Given the description of an element on the screen output the (x, y) to click on. 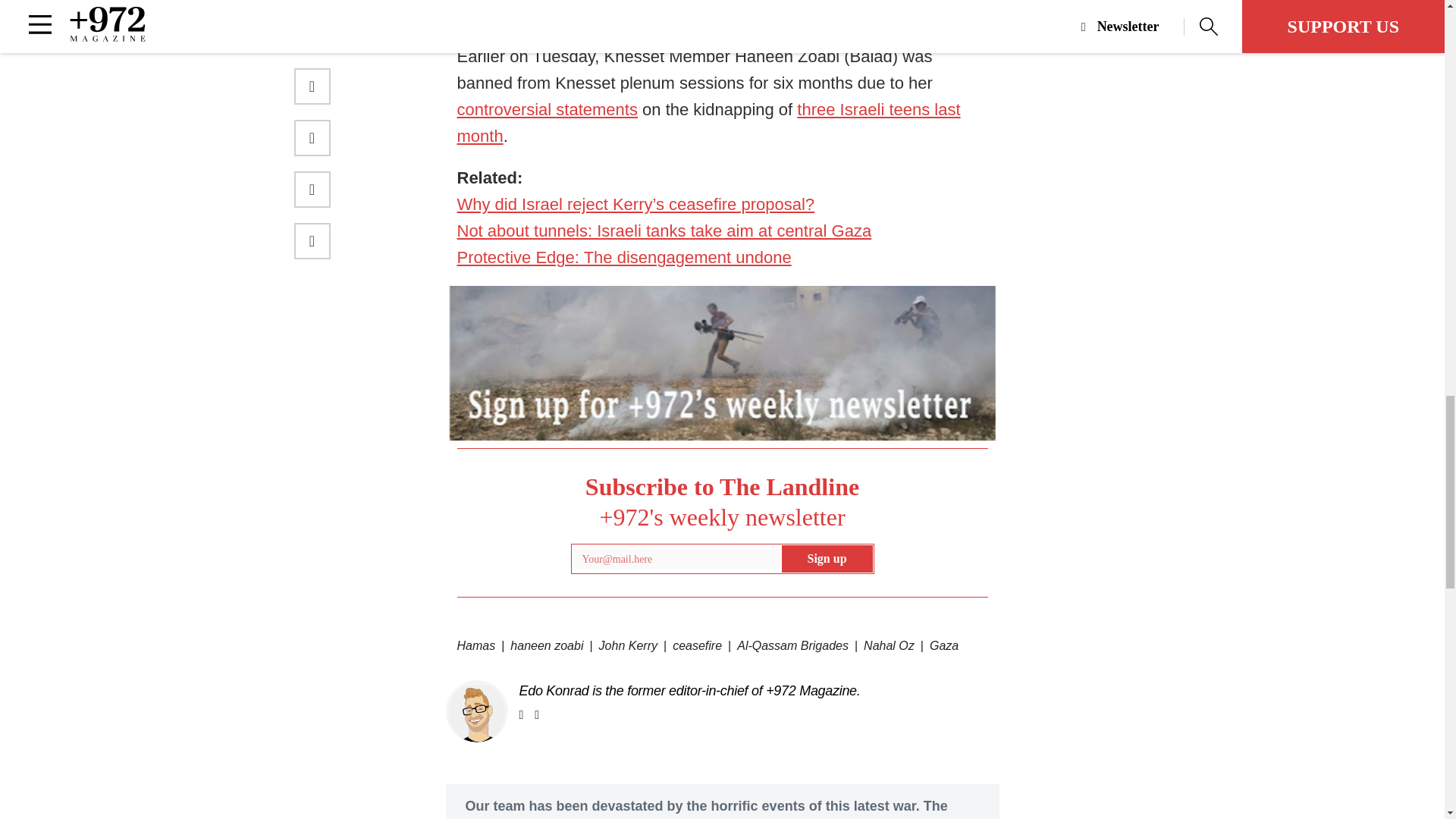
controversial statements (547, 108)
Edo Konrad (476, 712)
